Given the description of an element on the screen output the (x, y) to click on. 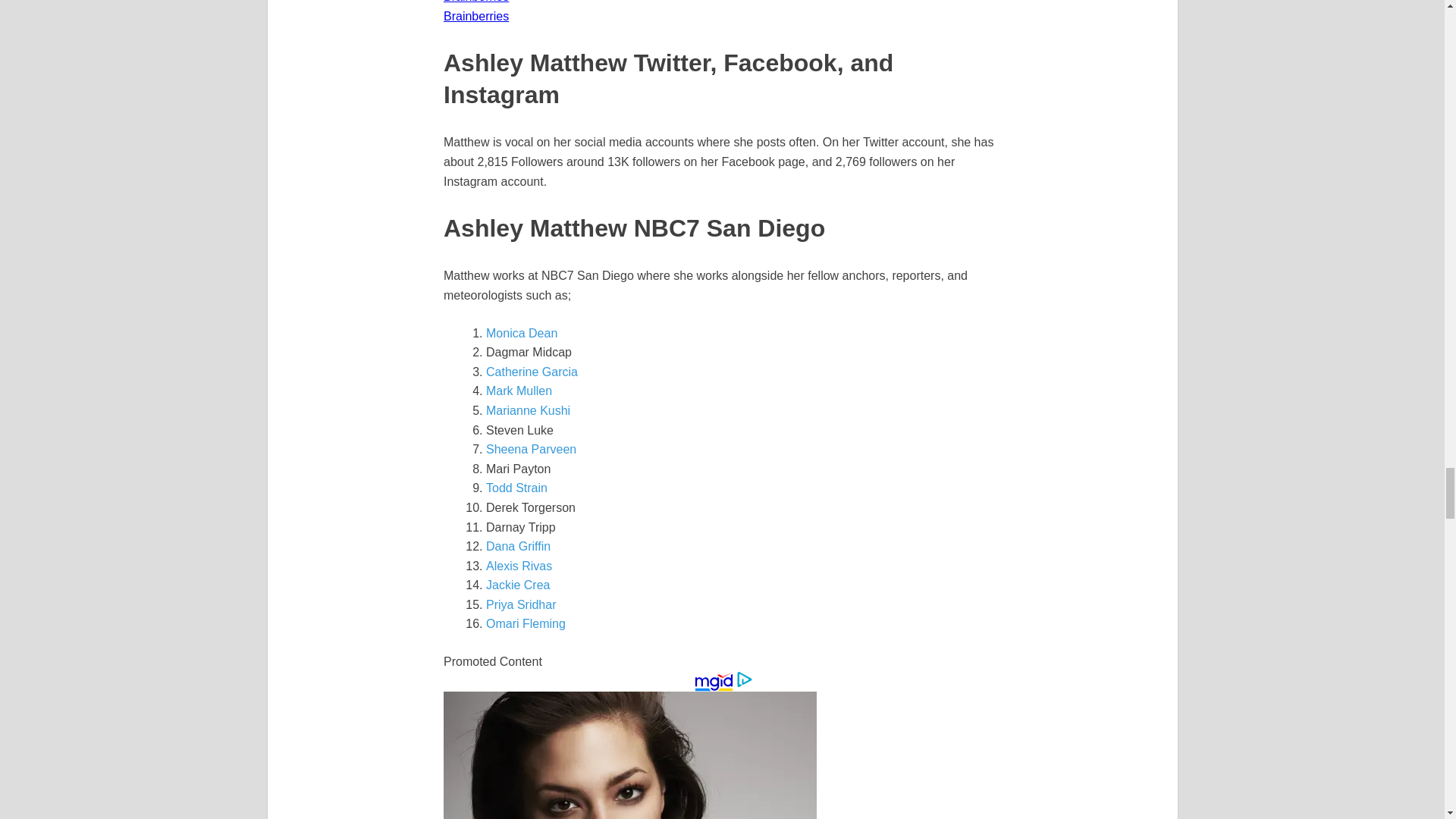
Priya Sridhar (521, 604)
Dana Griffin (518, 545)
Catherine Garcia (532, 371)
Todd Strain (516, 487)
Alexis Rivas (518, 565)
Monica Dean (521, 332)
Sheena Parveen (531, 449)
Omari Fleming (526, 623)
Marianne Kushi (528, 410)
Mark Mullen (518, 390)
Jackie Crea (518, 584)
